Given the description of an element on the screen output the (x, y) to click on. 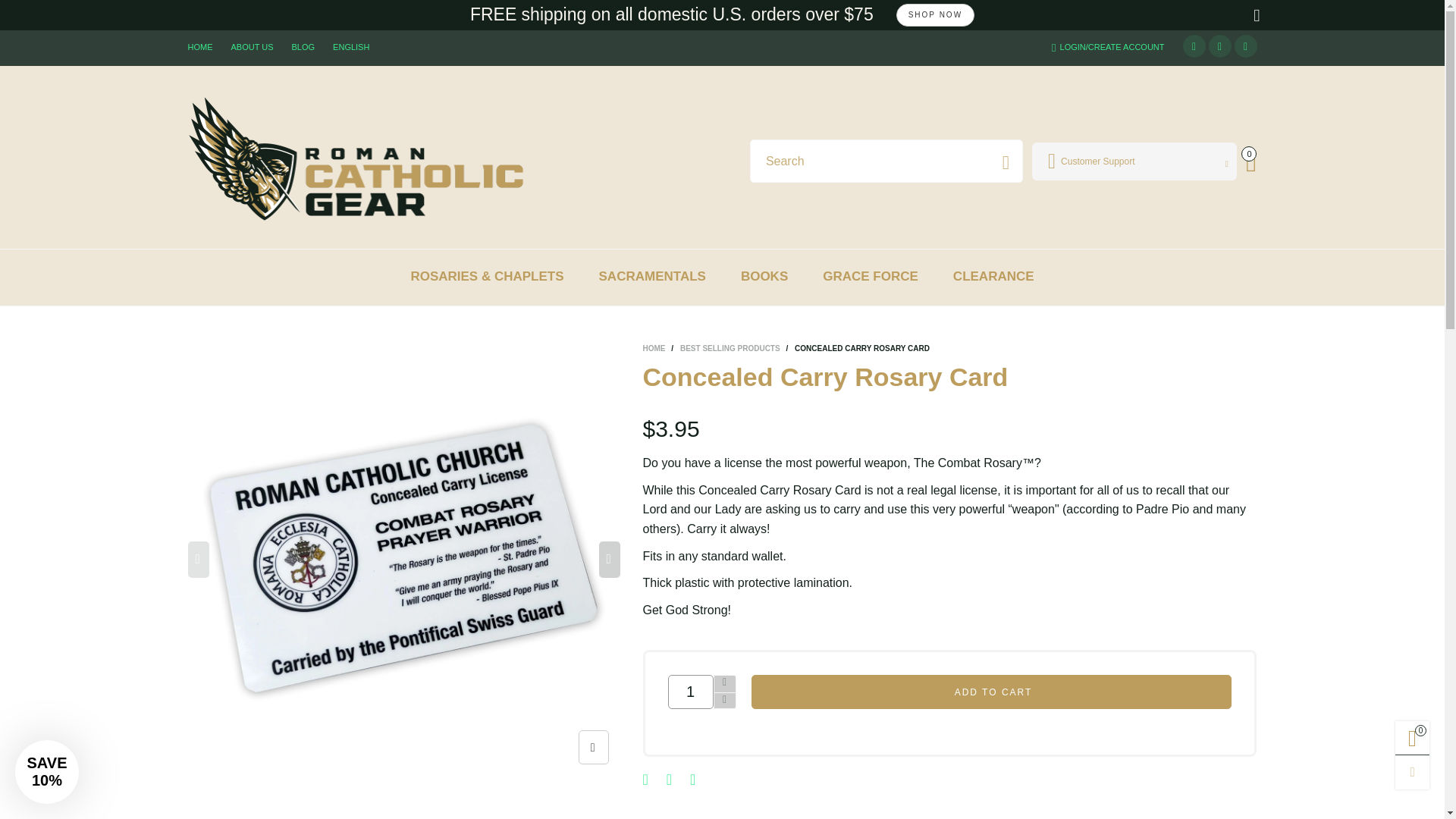
BLOG (303, 47)
CLEARANCE (993, 276)
GRACE FORCE (870, 276)
Language (350, 47)
BOOKS (764, 276)
ENGLISH (350, 47)
Sign In (1178, 216)
CLEARANCE (993, 276)
Customer Support (1134, 161)
Roman Catholic Gear (358, 158)
HOME (200, 47)
About Us (251, 47)
SACRAMENTALS (652, 276)
My Account (1134, 161)
BLOG (303, 47)
